Given the description of an element on the screen output the (x, y) to click on. 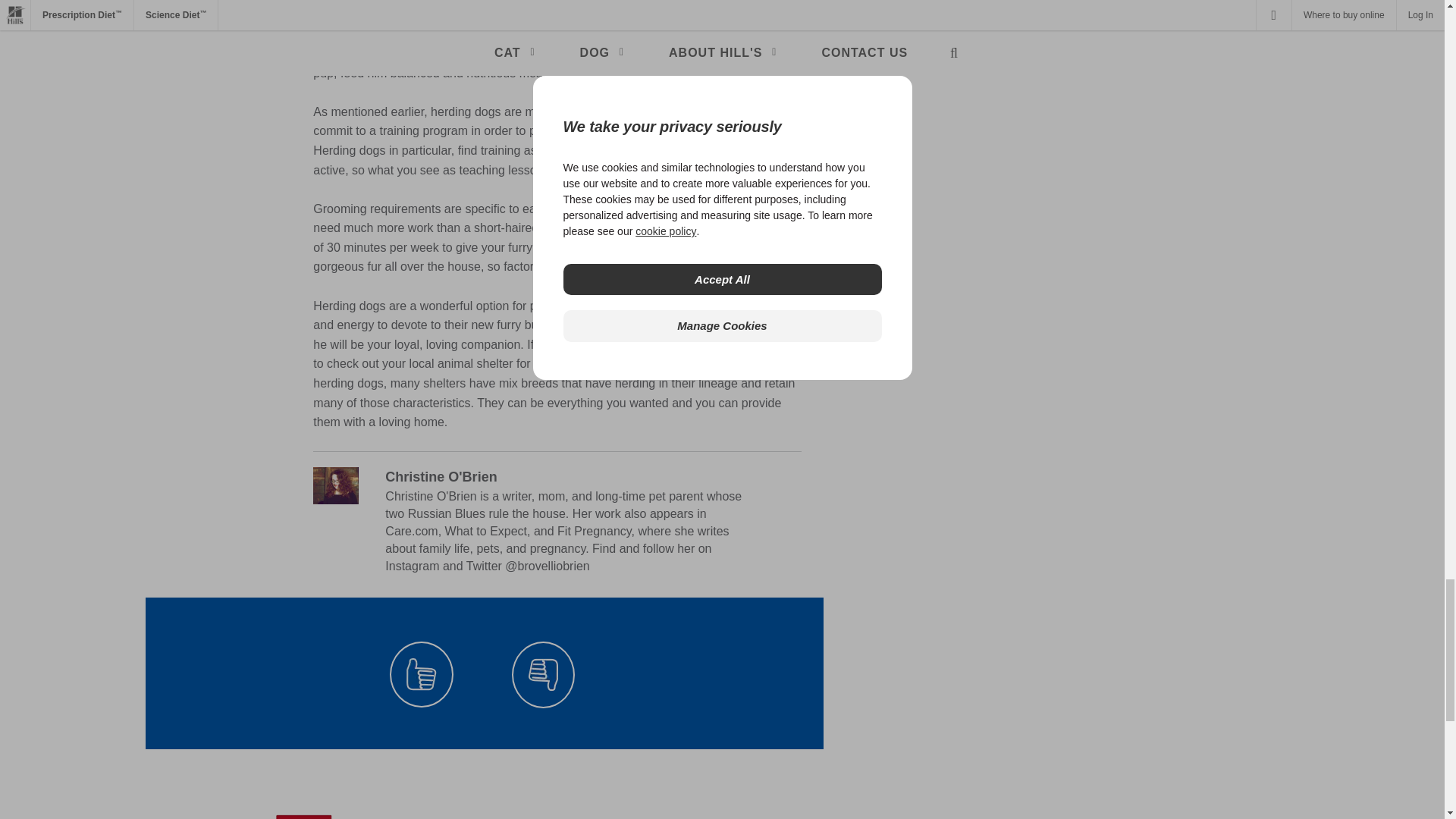
positive (421, 674)
